Given the description of an element on the screen output the (x, y) to click on. 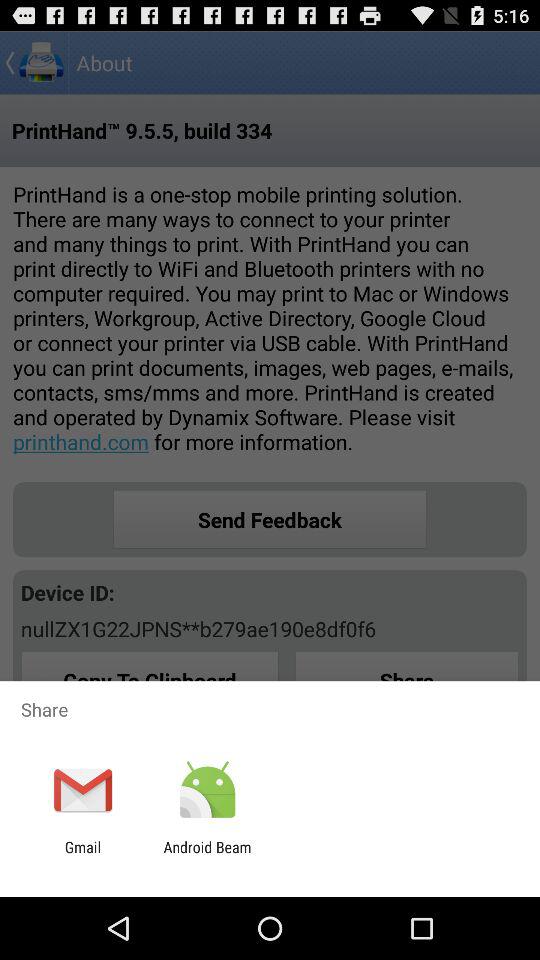
turn off item next to gmail item (207, 856)
